Given the description of an element on the screen output the (x, y) to click on. 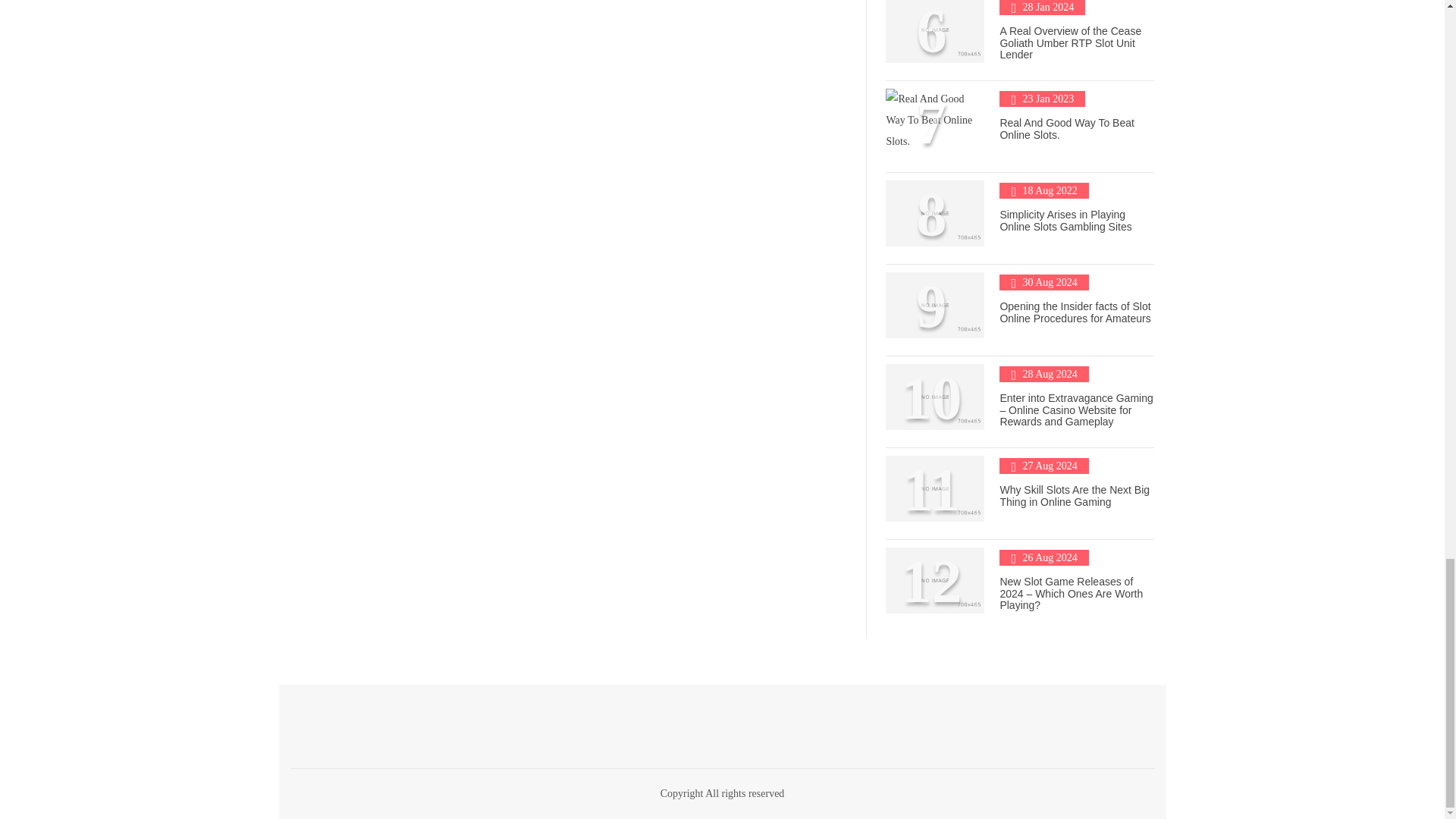
Simplicity Arises in Playing Online Slots Gambling Sites (1064, 219)
Real And Good Way To Beat Online Slots. (1066, 128)
